Given the description of an element on the screen output the (x, y) to click on. 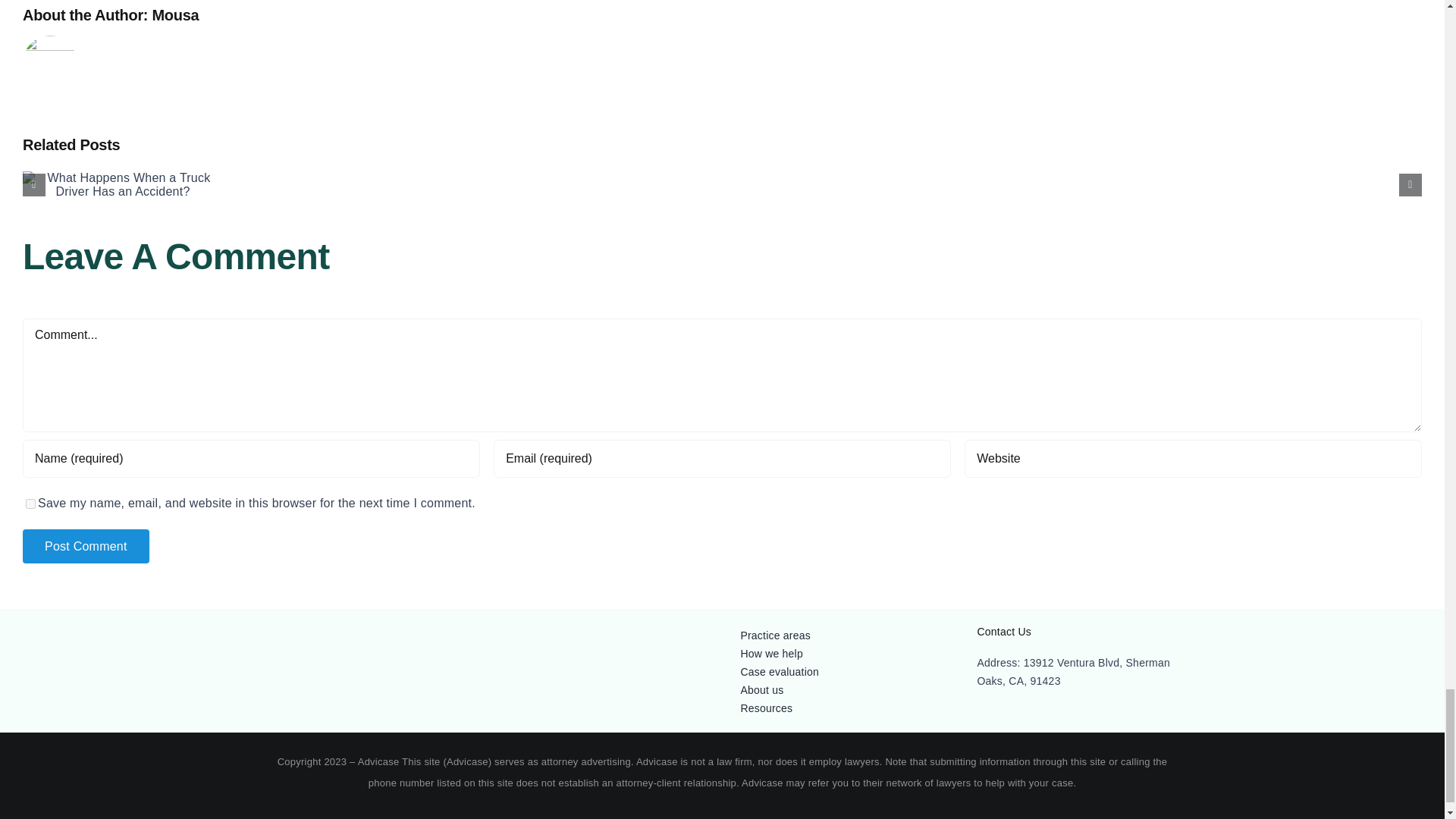
Post Comment (86, 546)
yes (30, 503)
Mousa (174, 14)
